Given the description of an element on the screen output the (x, y) to click on. 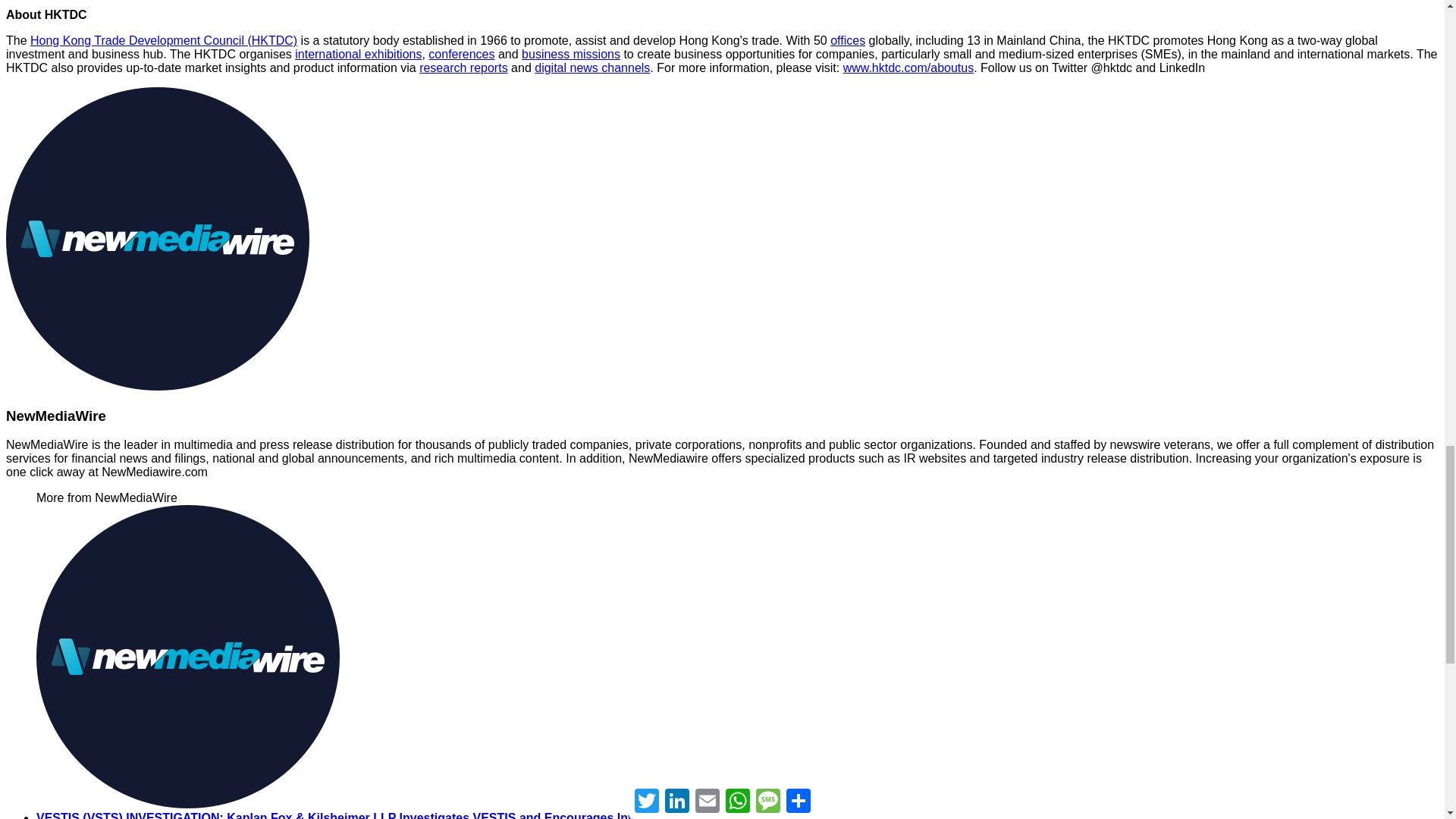
business missions (570, 53)
conferences (461, 53)
international exhibitions (358, 53)
research reports (463, 67)
digital news channels (591, 67)
offices (846, 40)
